Given the description of an element on the screen output the (x, y) to click on. 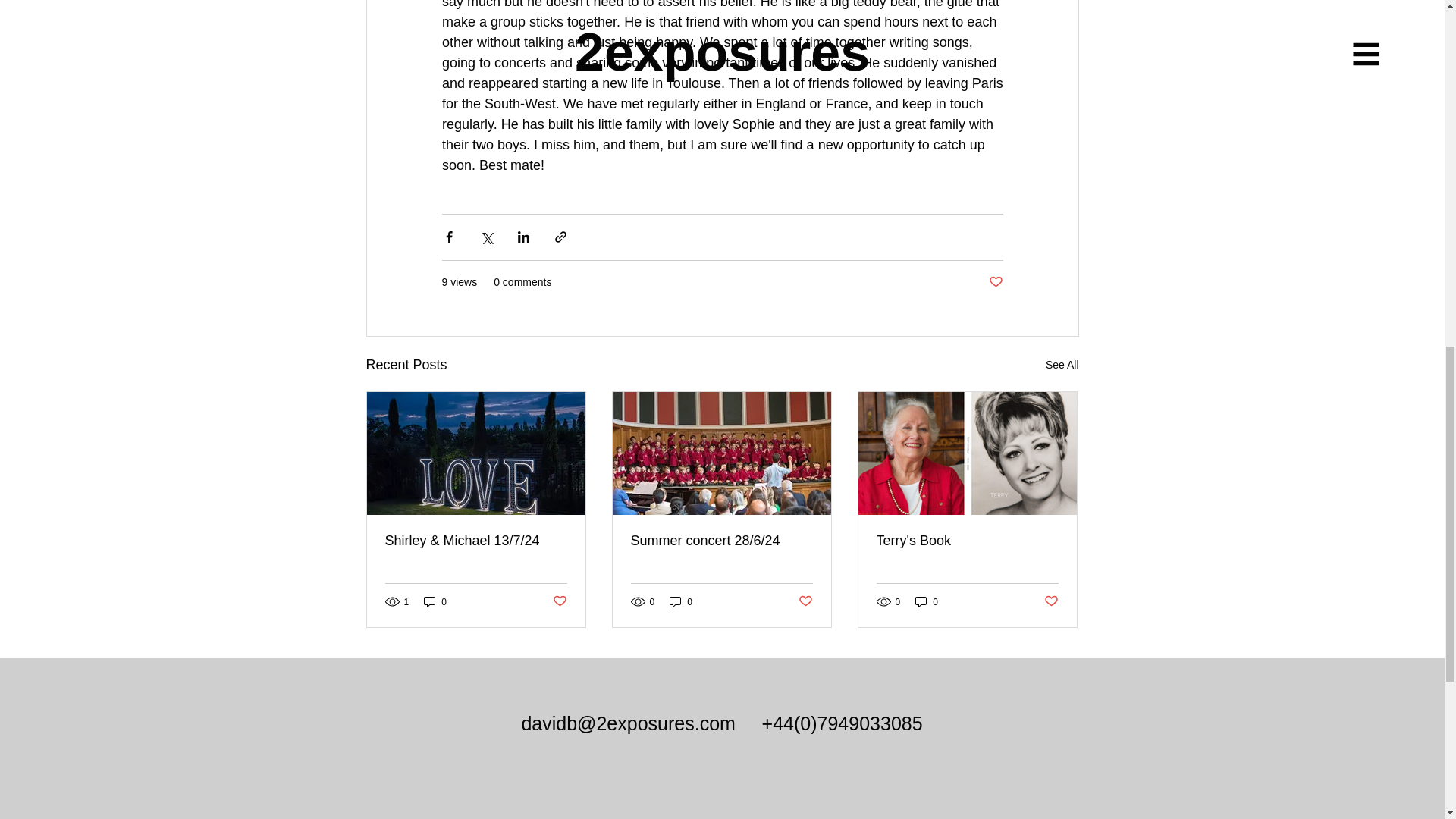
Post not marked as liked (804, 601)
Post not marked as liked (1050, 601)
0 (926, 601)
0 (435, 601)
Post not marked as liked (558, 601)
See All (1061, 364)
Post not marked as liked (995, 282)
0 (681, 601)
Terry's Book (967, 540)
